Given the description of an element on the screen output the (x, y) to click on. 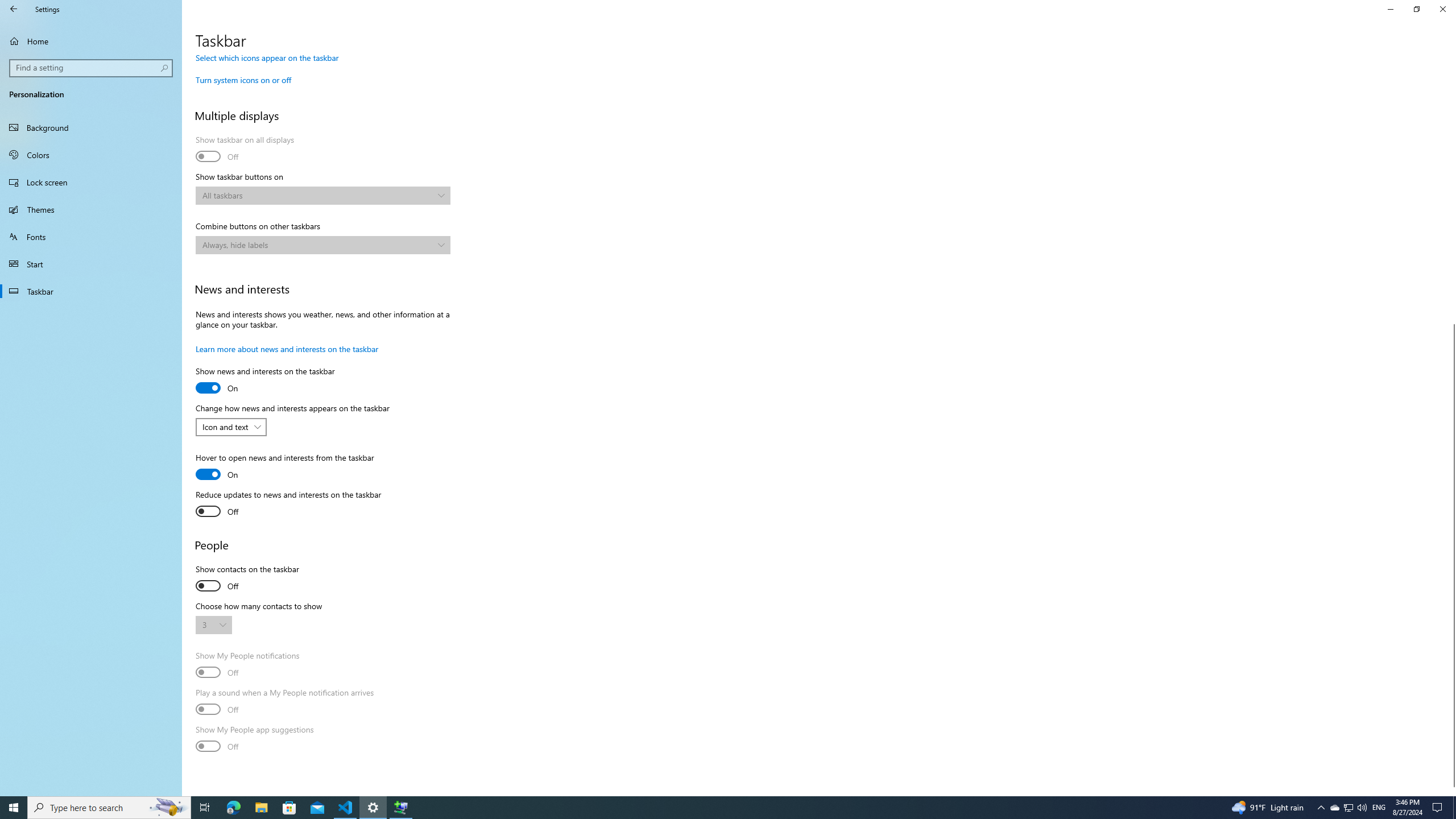
Taskbar (91, 290)
Change how news and interests appears on the taskbar (230, 426)
Learn more about news and interests on the taskbar (286, 348)
Show My People app suggestions (254, 739)
Select which icons appear on the taskbar (267, 57)
Vertical (1451, 425)
Running applications (706, 807)
Turn system icons on or off (243, 79)
Hover to open news and interests from the taskbar (284, 467)
Themes (91, 208)
